Given the description of an element on the screen output the (x, y) to click on. 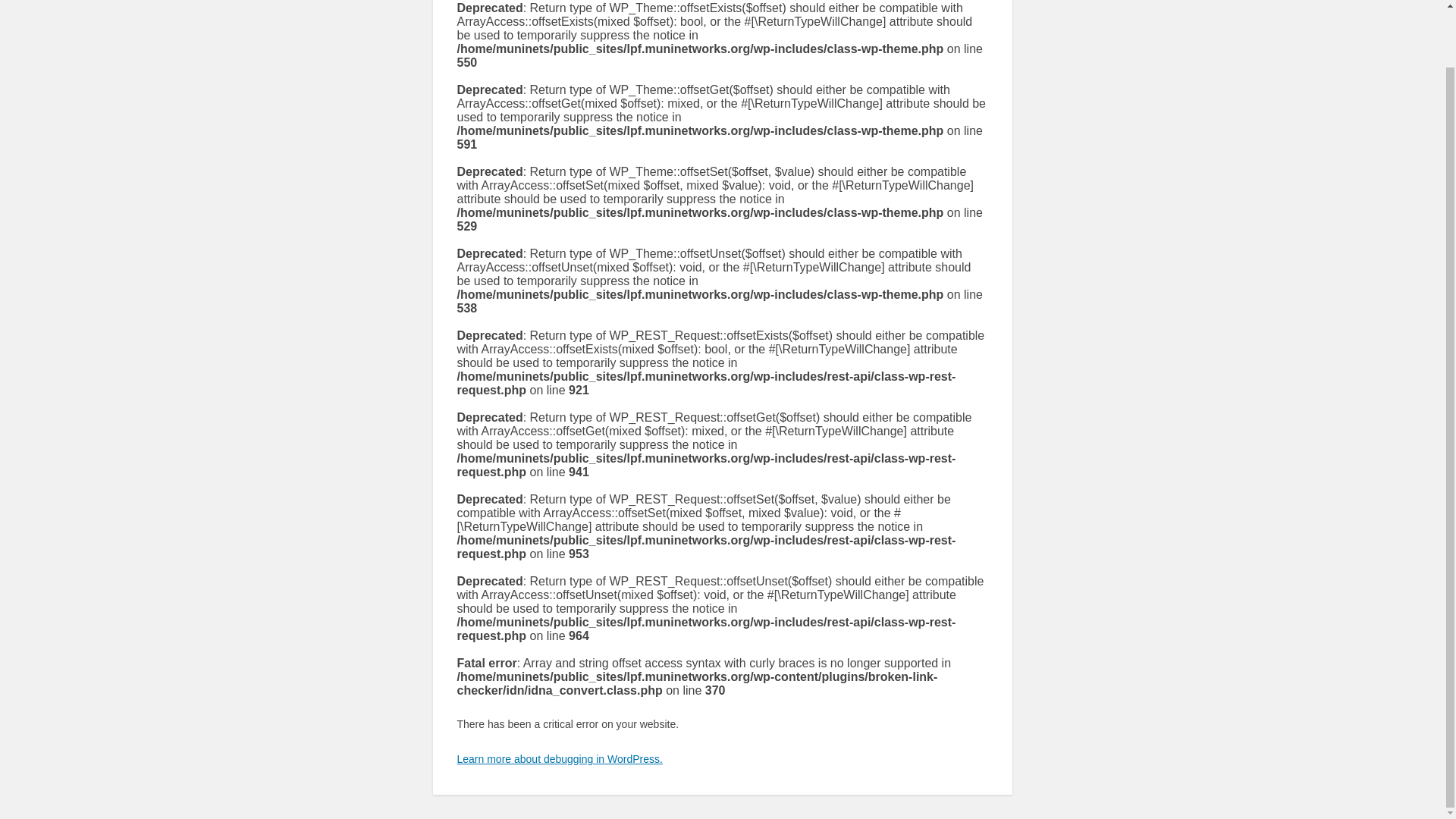
Learn more about debugging in WordPress. (559, 758)
